Given the description of an element on the screen output the (x, y) to click on. 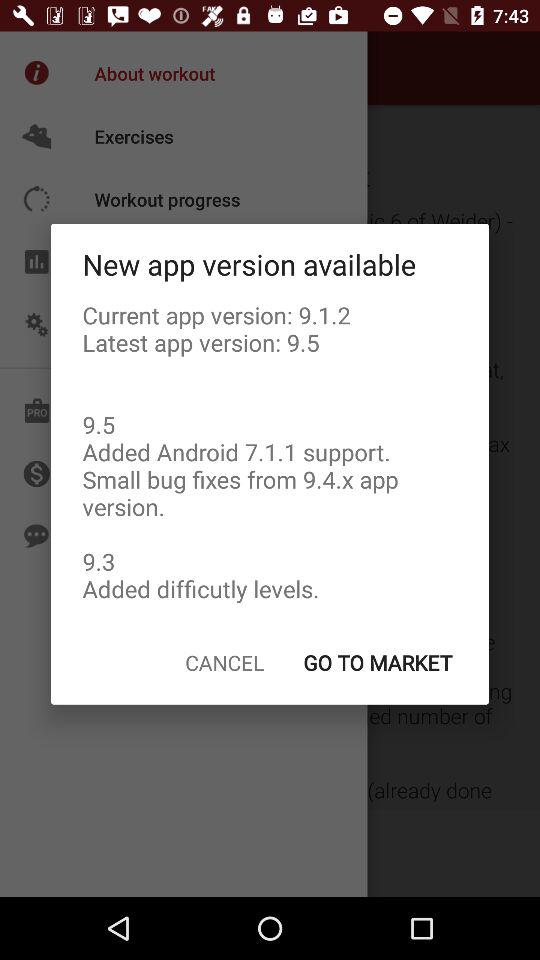
press the icon next to the cancel (377, 662)
